Given the description of an element on the screen output the (x, y) to click on. 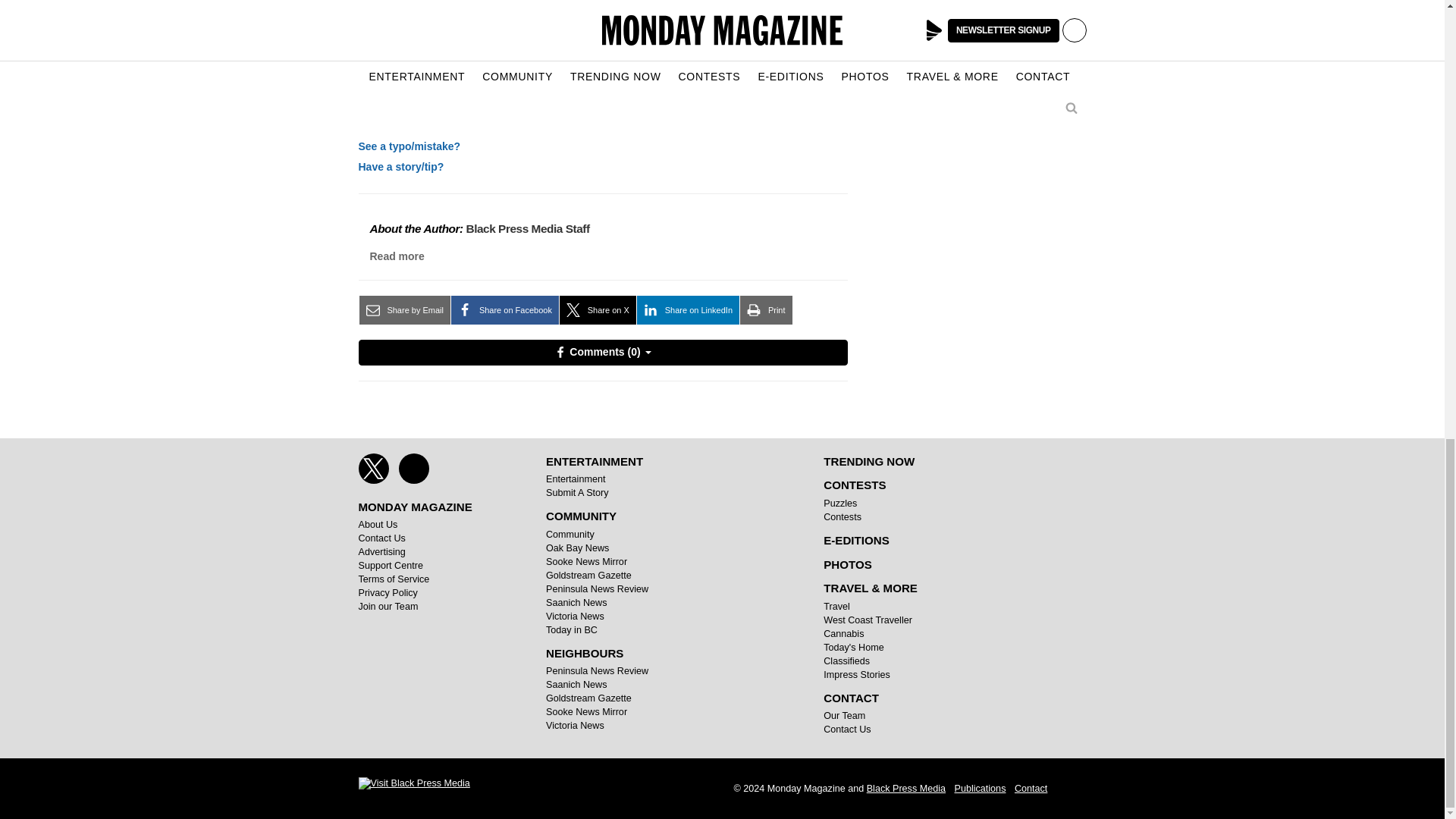
Show Comments (602, 352)
X (373, 468)
Instagram (413, 468)
